Given the description of an element on the screen output the (x, y) to click on. 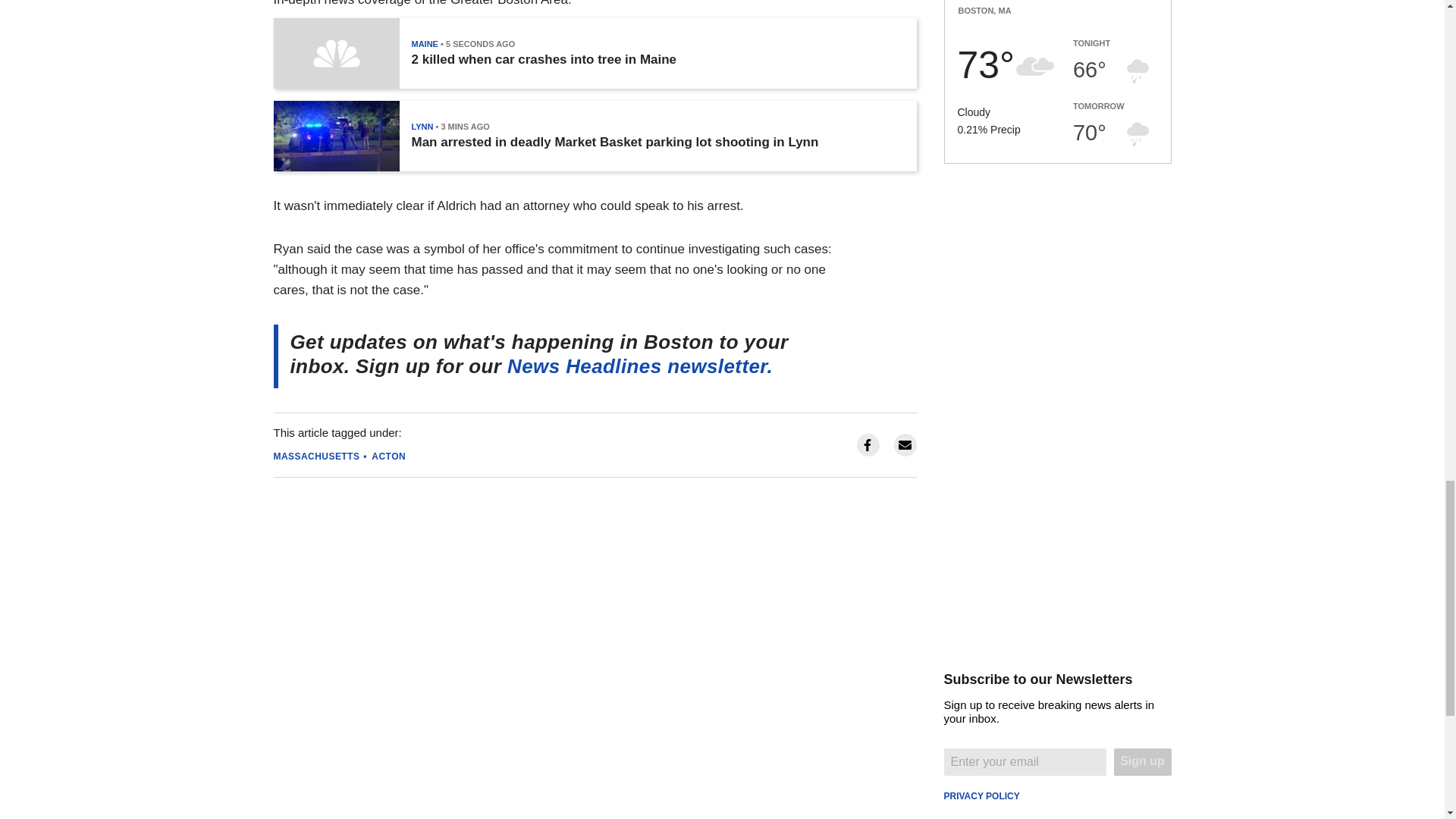
3rd party ad content (1056, 296)
